Given the description of an element on the screen output the (x, y) to click on. 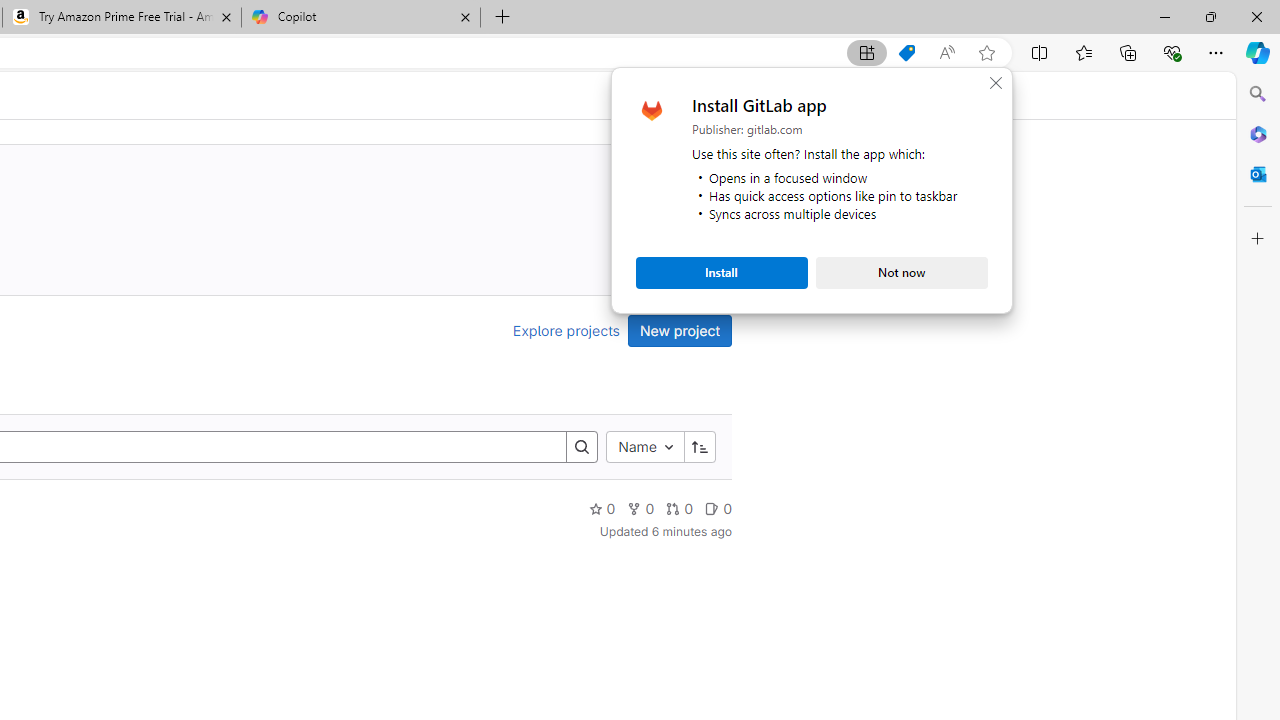
Install (721, 272)
Not now (902, 272)
